Given the description of an element on the screen output the (x, y) to click on. 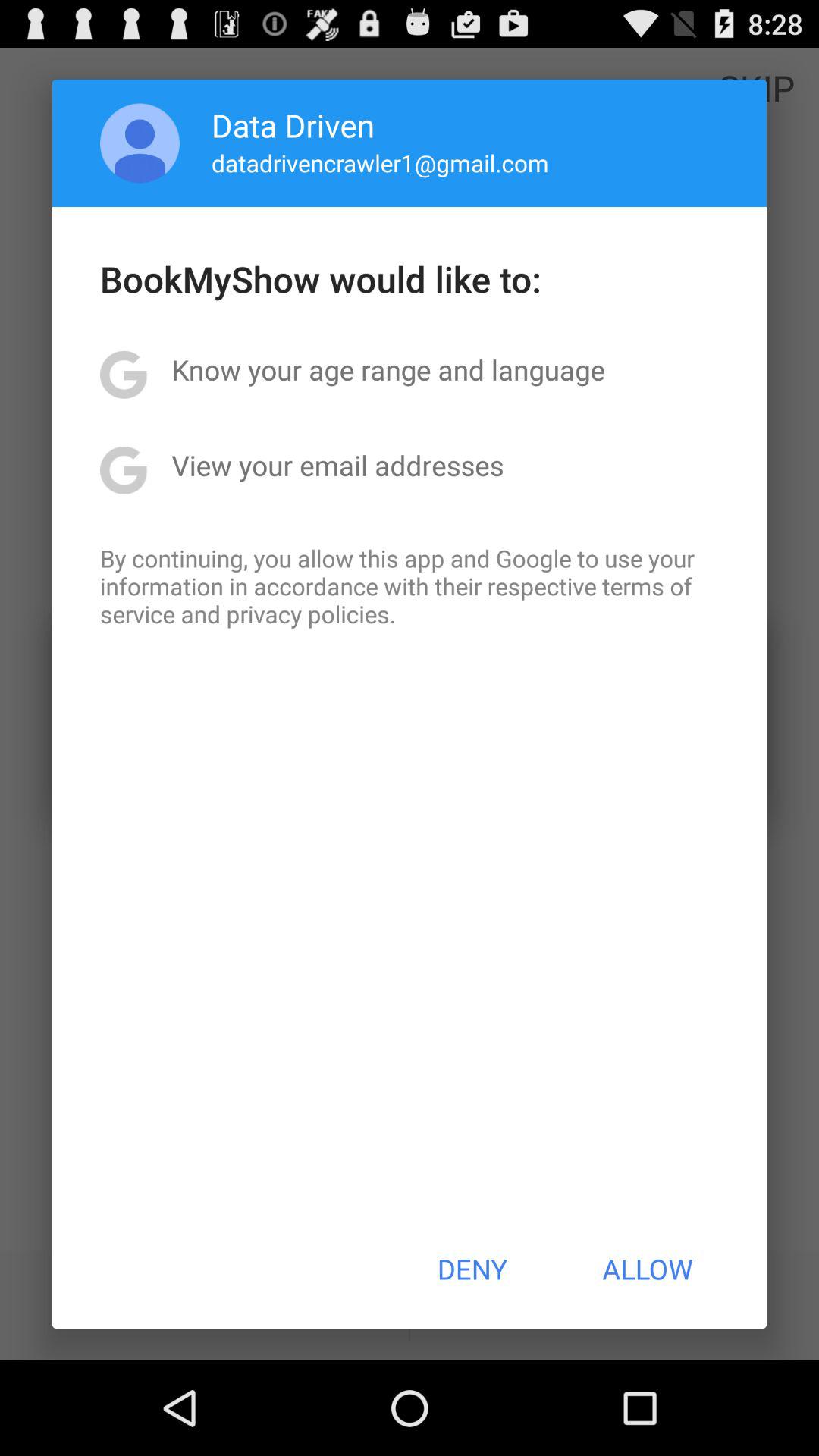
click icon above the bookmyshow would like item (139, 143)
